Given the description of an element on the screen output the (x, y) to click on. 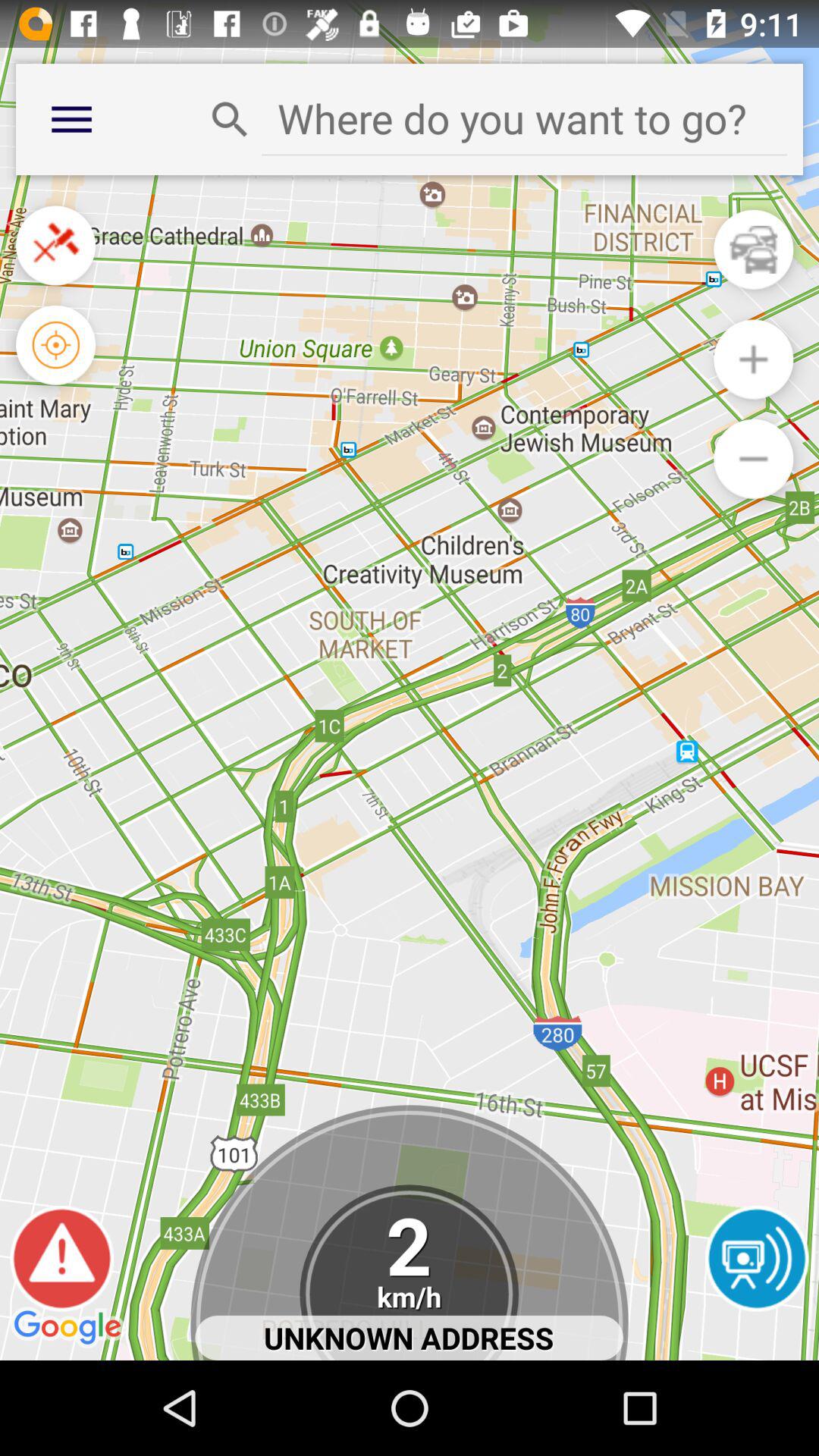
zoom out option (753, 458)
